Given the description of an element on the screen output the (x, y) to click on. 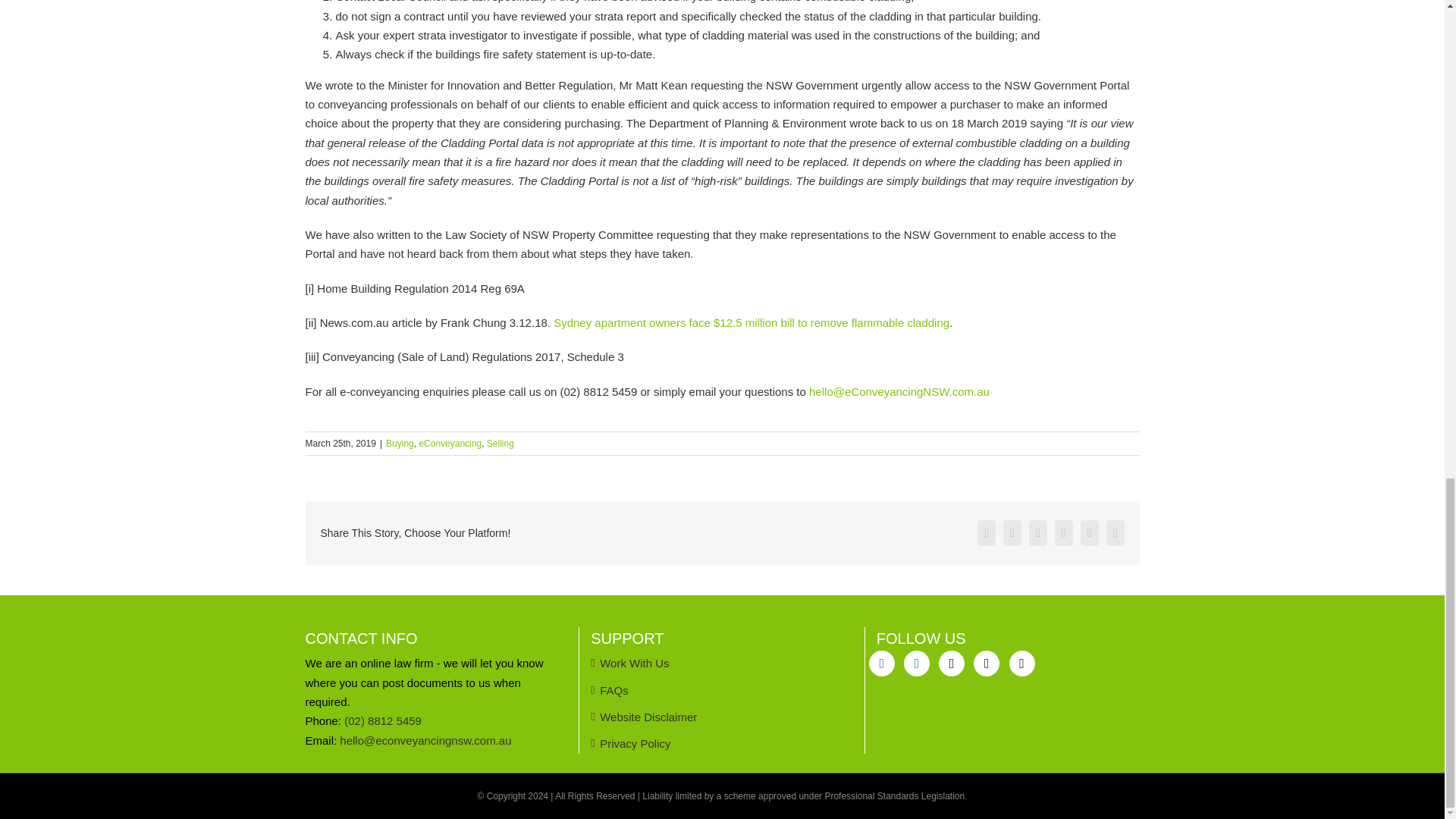
Default Label (917, 663)
Default Label (1021, 663)
Default Label (951, 663)
Default Label (986, 663)
Buying (399, 443)
Facebook (882, 663)
Selling (499, 443)
eConveyancing (450, 443)
Work With Us (722, 662)
